Given the description of an element on the screen output the (x, y) to click on. 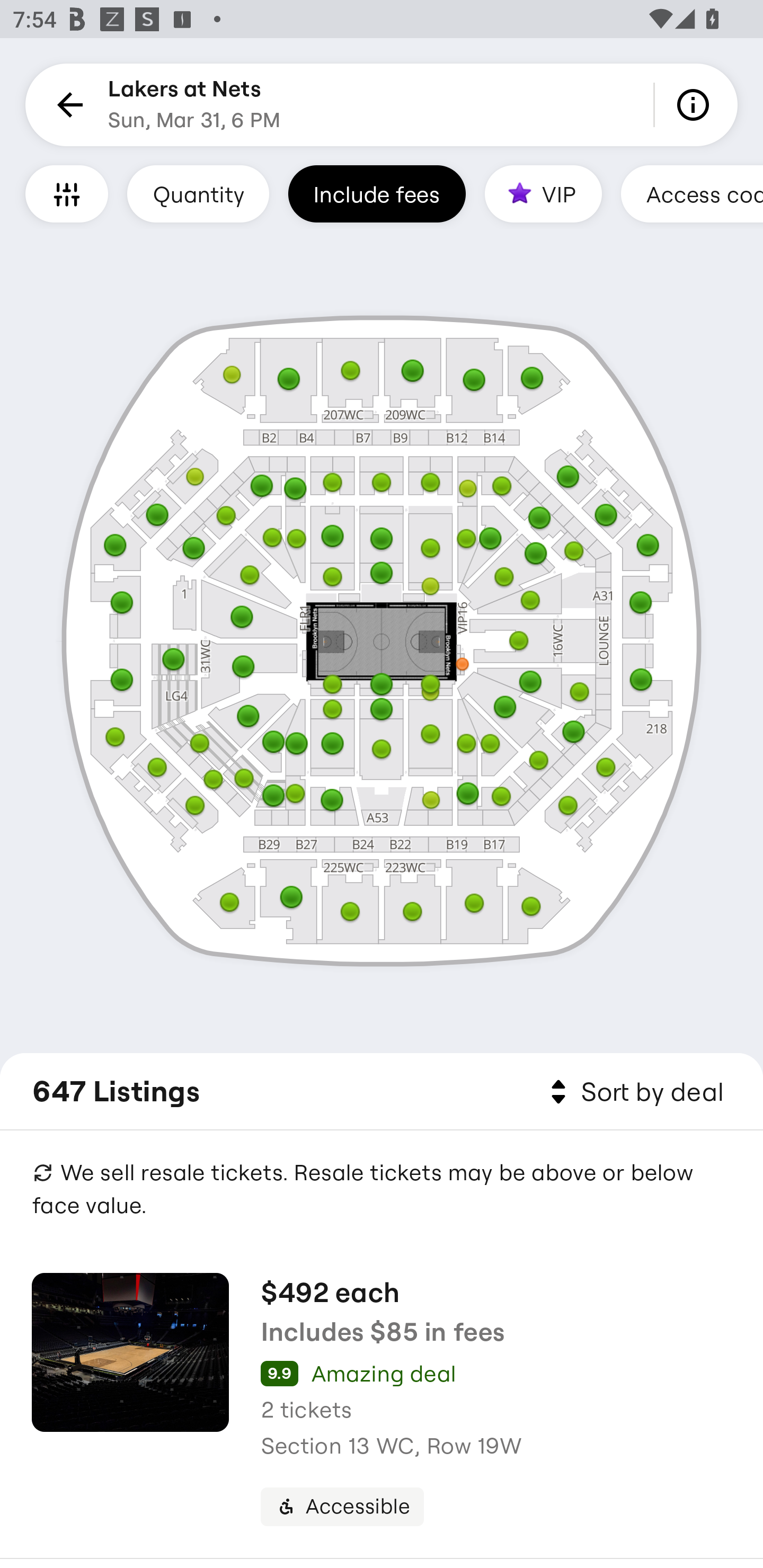
Back (66, 104)
Lakers at Nets Sun, Mar 31, 6 PM (194, 104)
Info (695, 104)
Filters and Accessible Seating (66, 193)
Quantity (198, 193)
Include fees (376, 193)
VIP (543, 193)
Access code (692, 193)
Sort by deal (633, 1091)
